Given the description of an element on the screen output the (x, y) to click on. 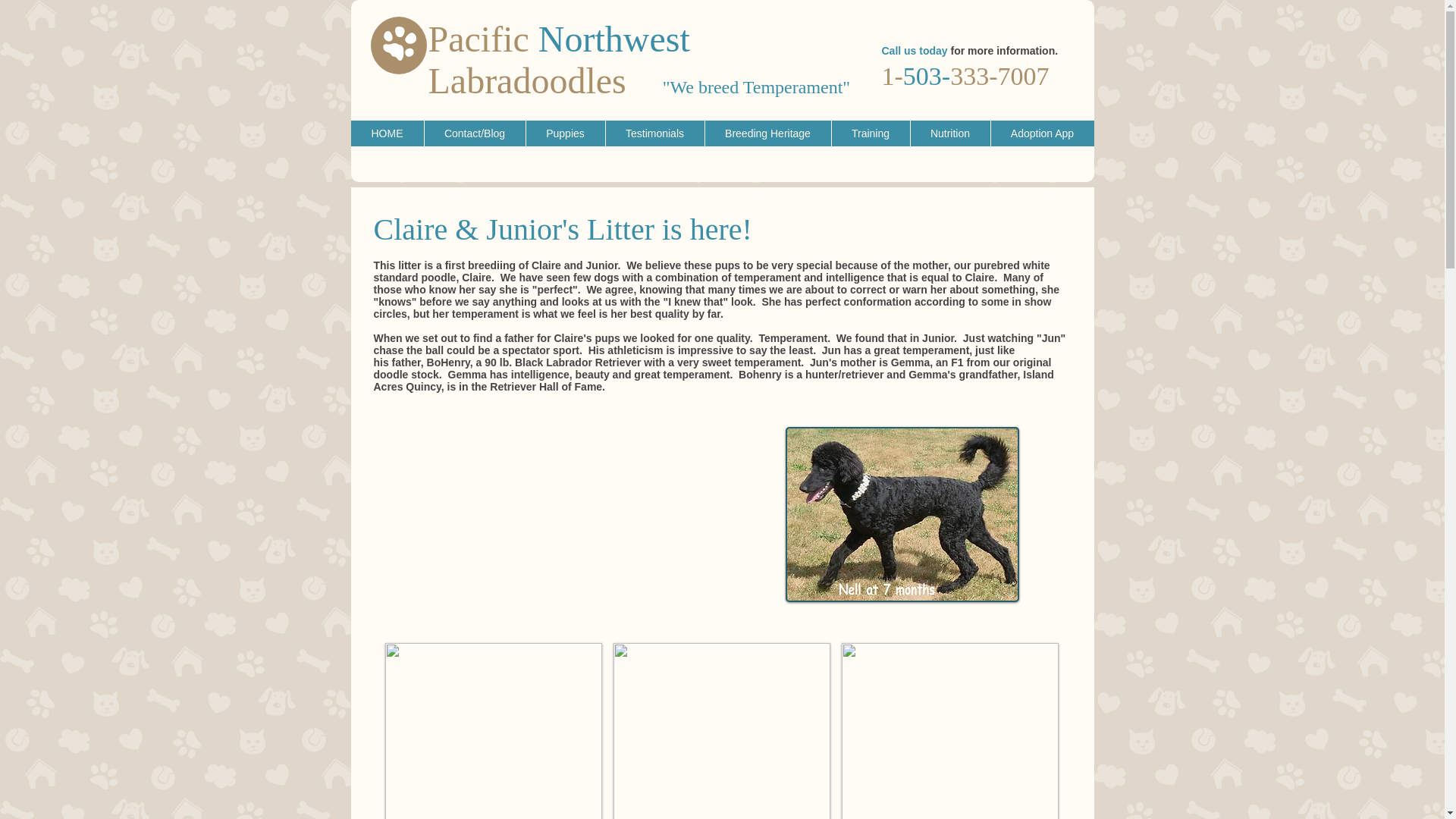
Adoption App (1042, 133)
Training (870, 133)
Nutrition (950, 133)
Breeding Heritage (766, 133)
HOME (386, 133)
nell 7 mos (902, 513)
